Given the description of an element on the screen output the (x, y) to click on. 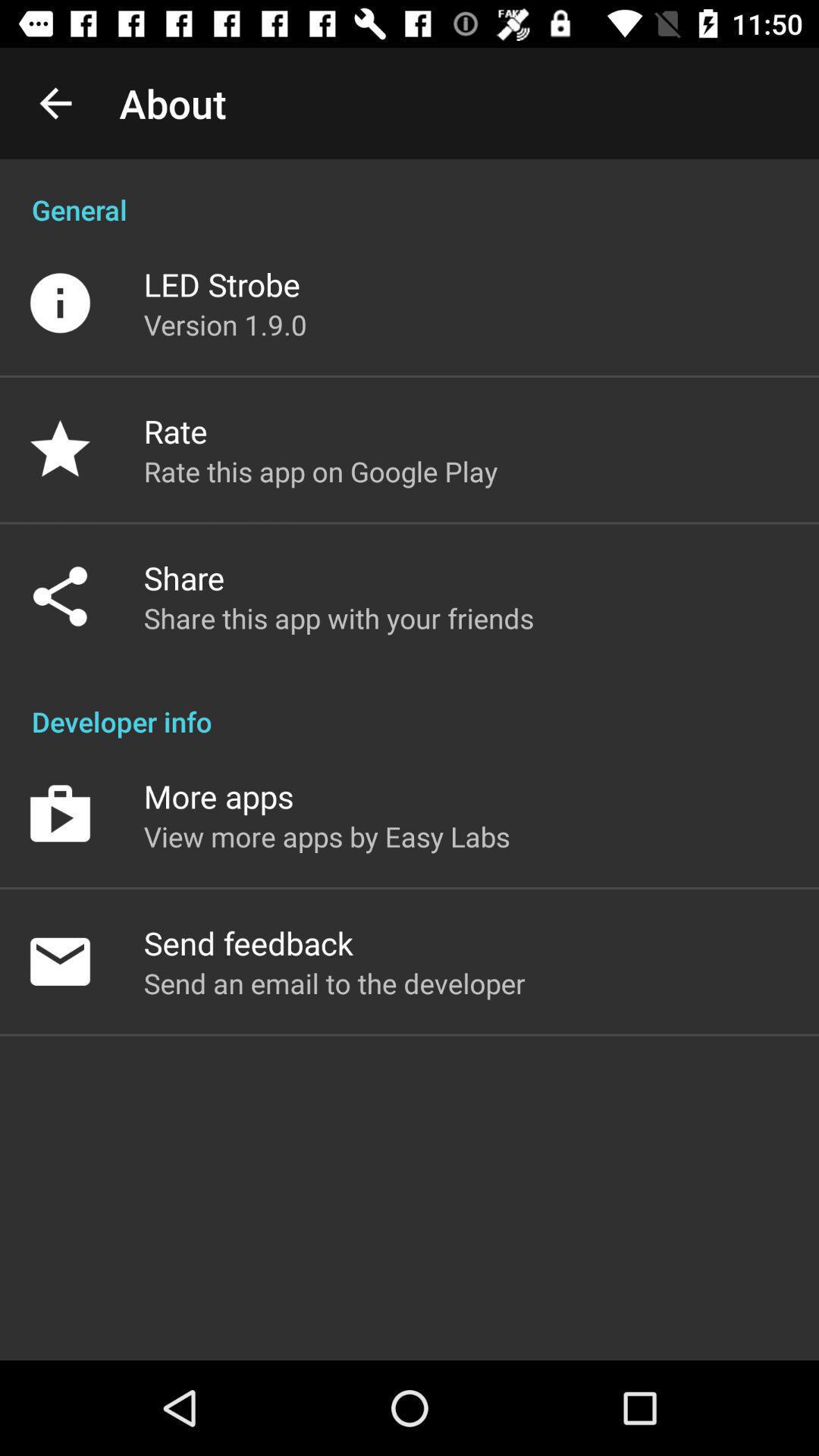
turn off the icon below led strobe icon (225, 324)
